Given the description of an element on the screen output the (x, y) to click on. 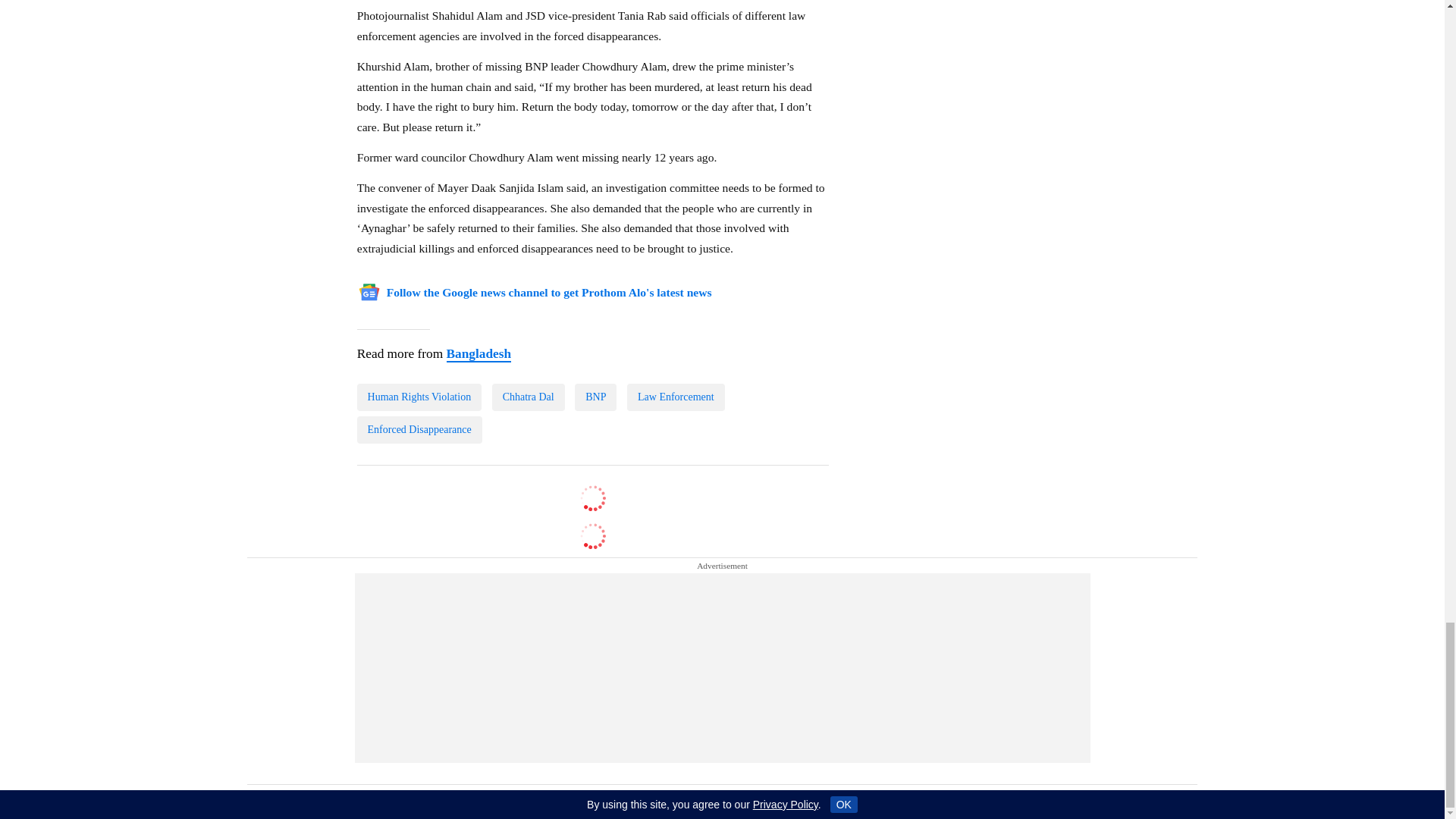
Bangladesh (478, 354)
Human Rights Violation (418, 397)
Chhatra Dal (528, 397)
